Given the description of an element on the screen output the (x, y) to click on. 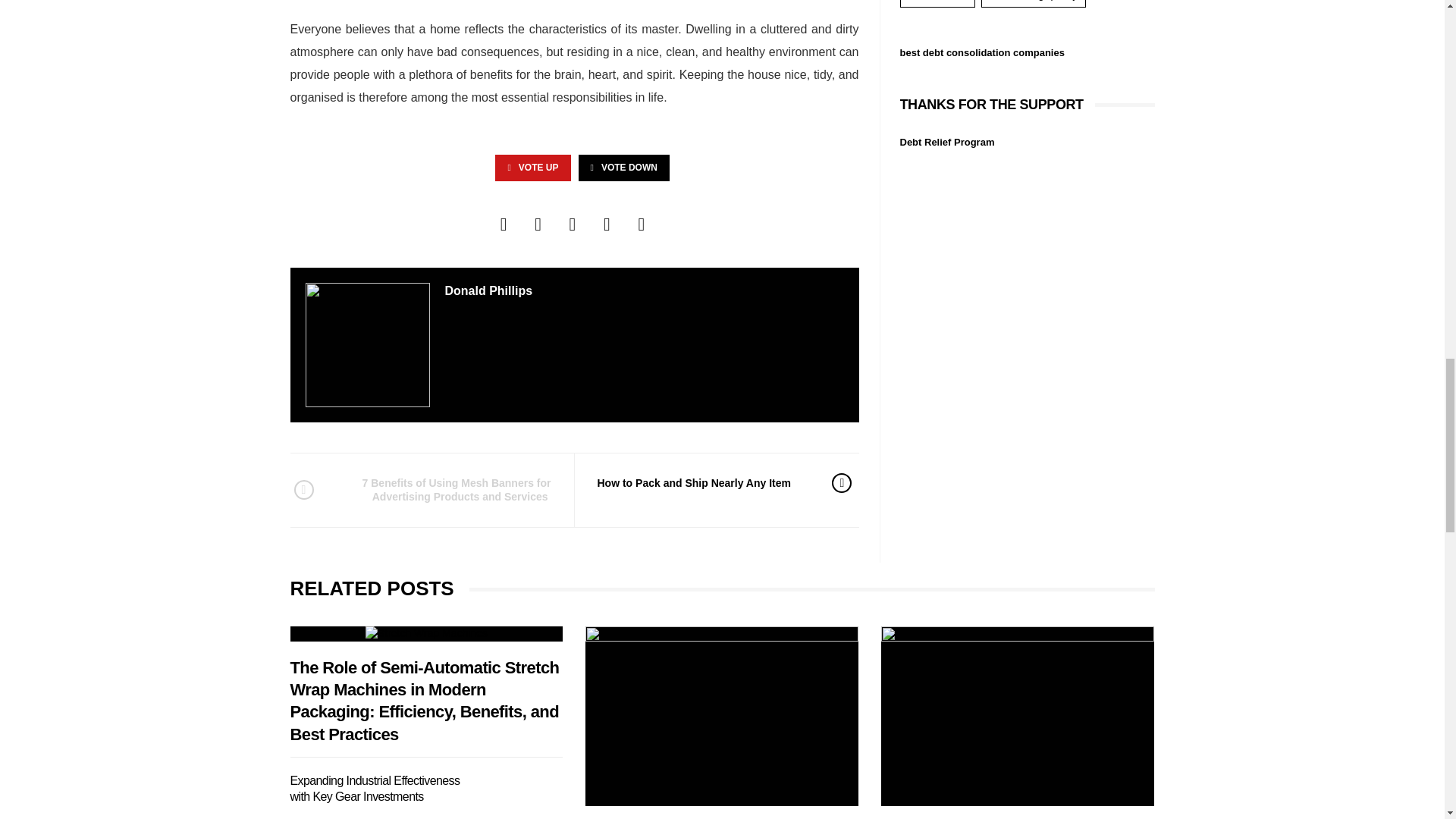
What are the key components of an AI trading system? (1017, 715)
VOTE UP (532, 167)
Share on Facebook (504, 223)
Share on Pinterest (606, 223)
Donald Phillips (488, 290)
When Should Heatpipes Be Used Over Other Cooling Methods? (722, 715)
VOTE DOWN (623, 167)
How to Pack and Ship Nearly Any Item (702, 482)
Share on Twitter (537, 223)
Share on Linkedin (641, 223)
